Given the description of an element on the screen output the (x, y) to click on. 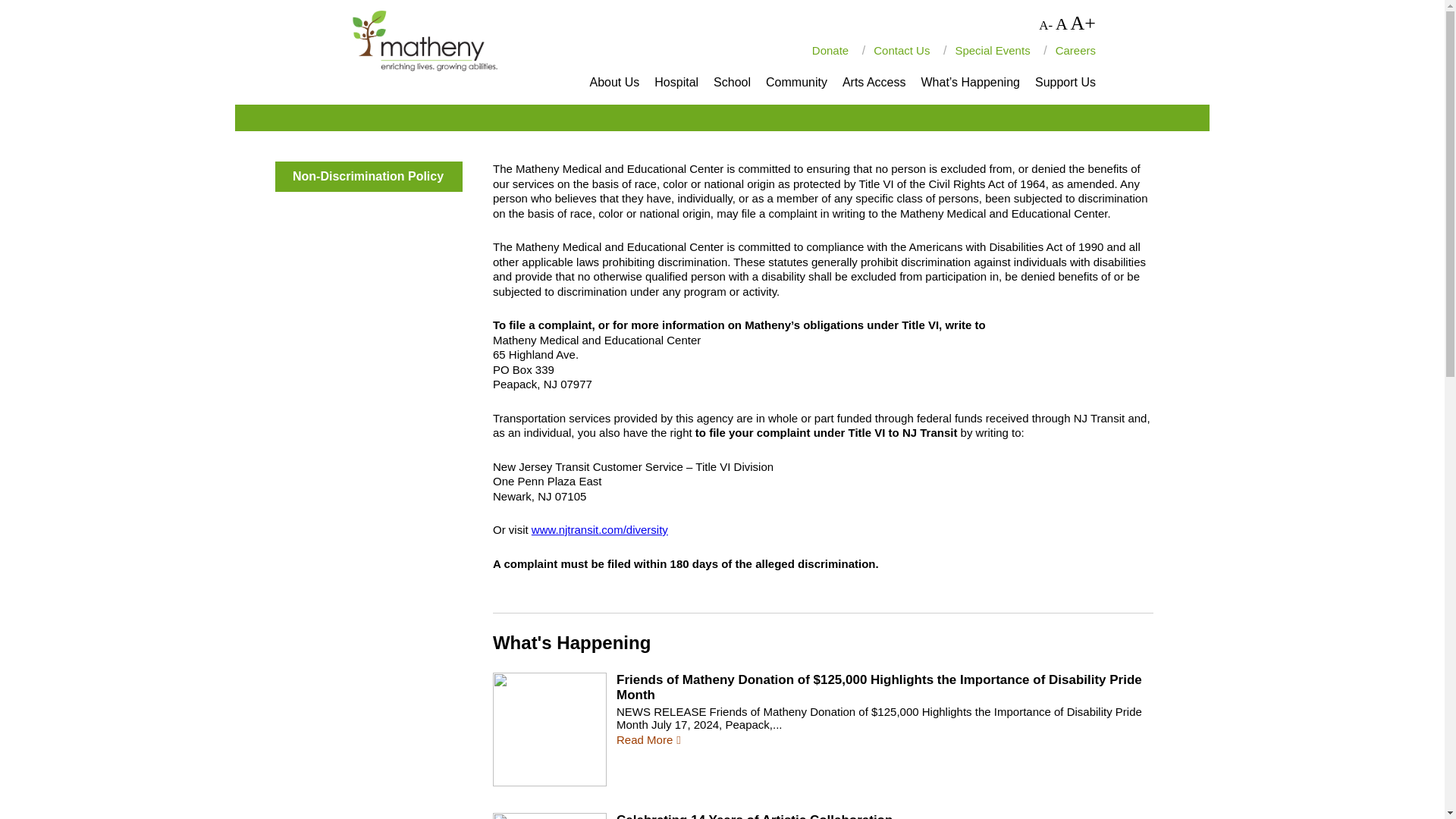
Arts Access (874, 82)
Special Events (992, 50)
Community (796, 82)
About Us (614, 82)
A- (1045, 25)
Hospital (675, 82)
School (732, 82)
Support Us (1065, 82)
Donate (830, 50)
Careers (1075, 50)
